Given the description of an element on the screen output the (x, y) to click on. 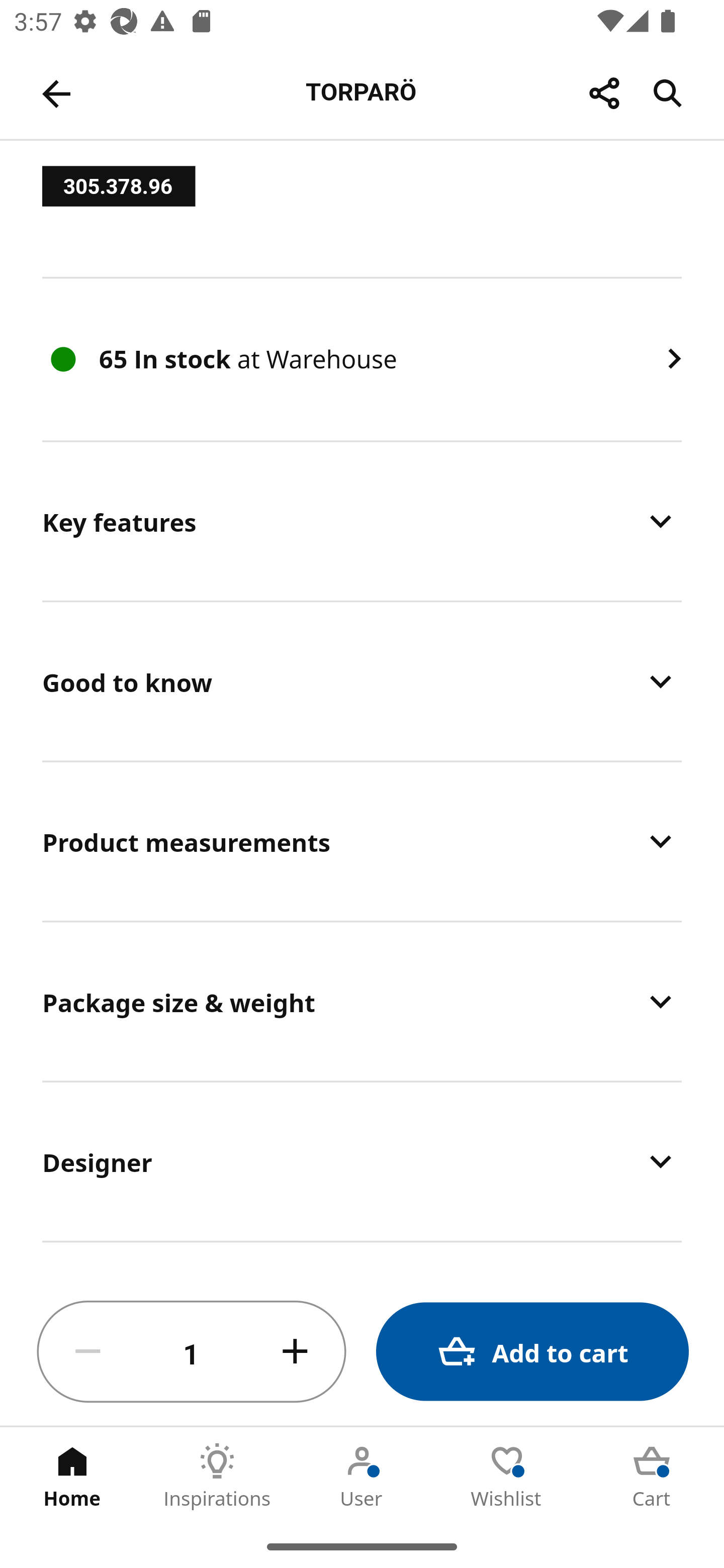
65 In stock at Warehouse (361, 359)
Key features (361, 520)
Good to know (361, 680)
Product measurements (361, 840)
Package size & weight (361, 1000)
Designer (361, 1160)
Add to cart (531, 1352)
1 (191, 1352)
Home
Tab 1 of 5 (72, 1476)
Inspirations
Tab 2 of 5 (216, 1476)
User
Tab 3 of 5 (361, 1476)
Wishlist
Tab 4 of 5 (506, 1476)
Cart
Tab 5 of 5 (651, 1476)
